Given the description of an element on the screen output the (x, y) to click on. 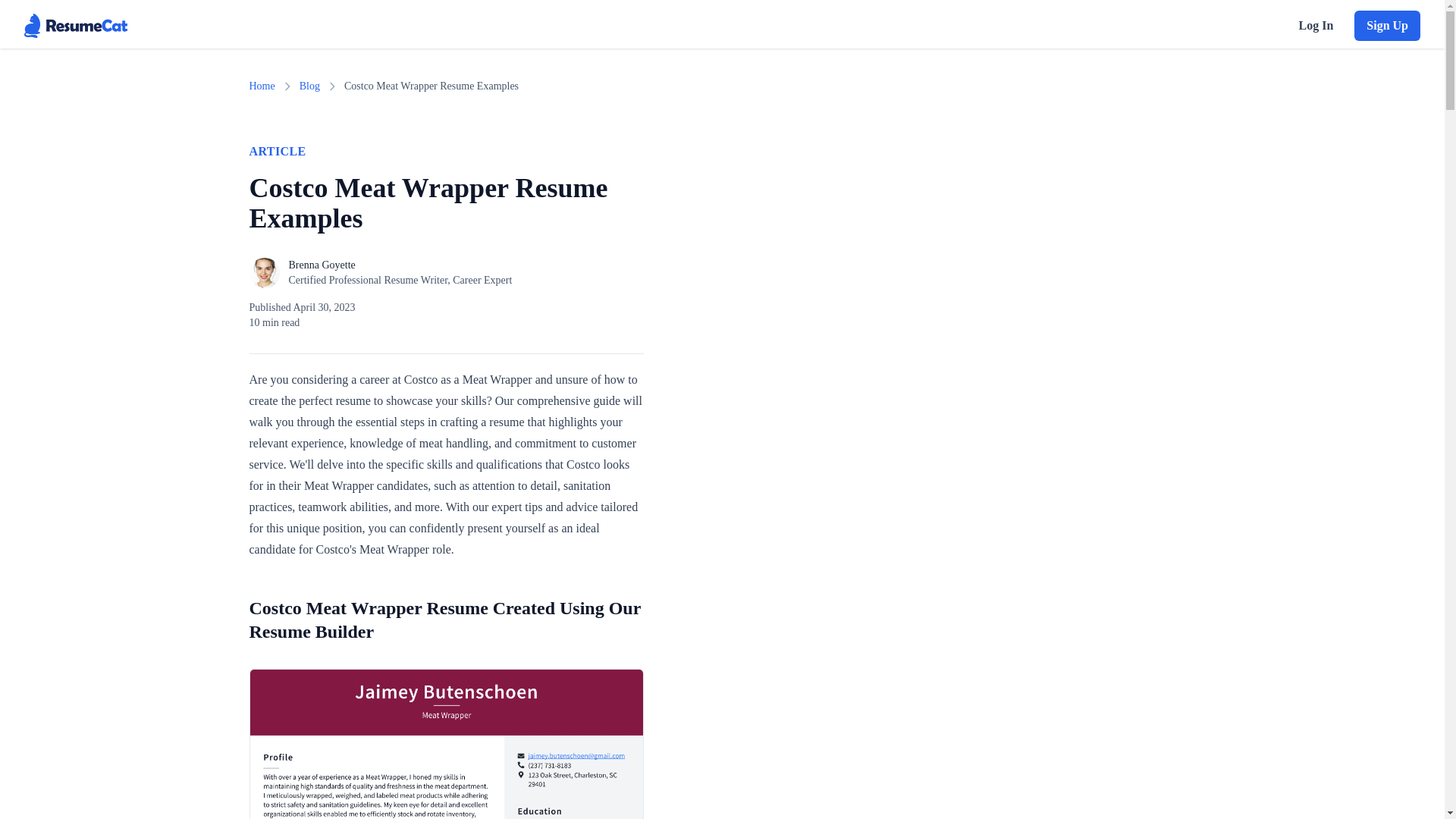
Blog (309, 86)
Log In (1315, 25)
Home (261, 86)
Sign Up (1387, 25)
